Given the description of an element on the screen output the (x, y) to click on. 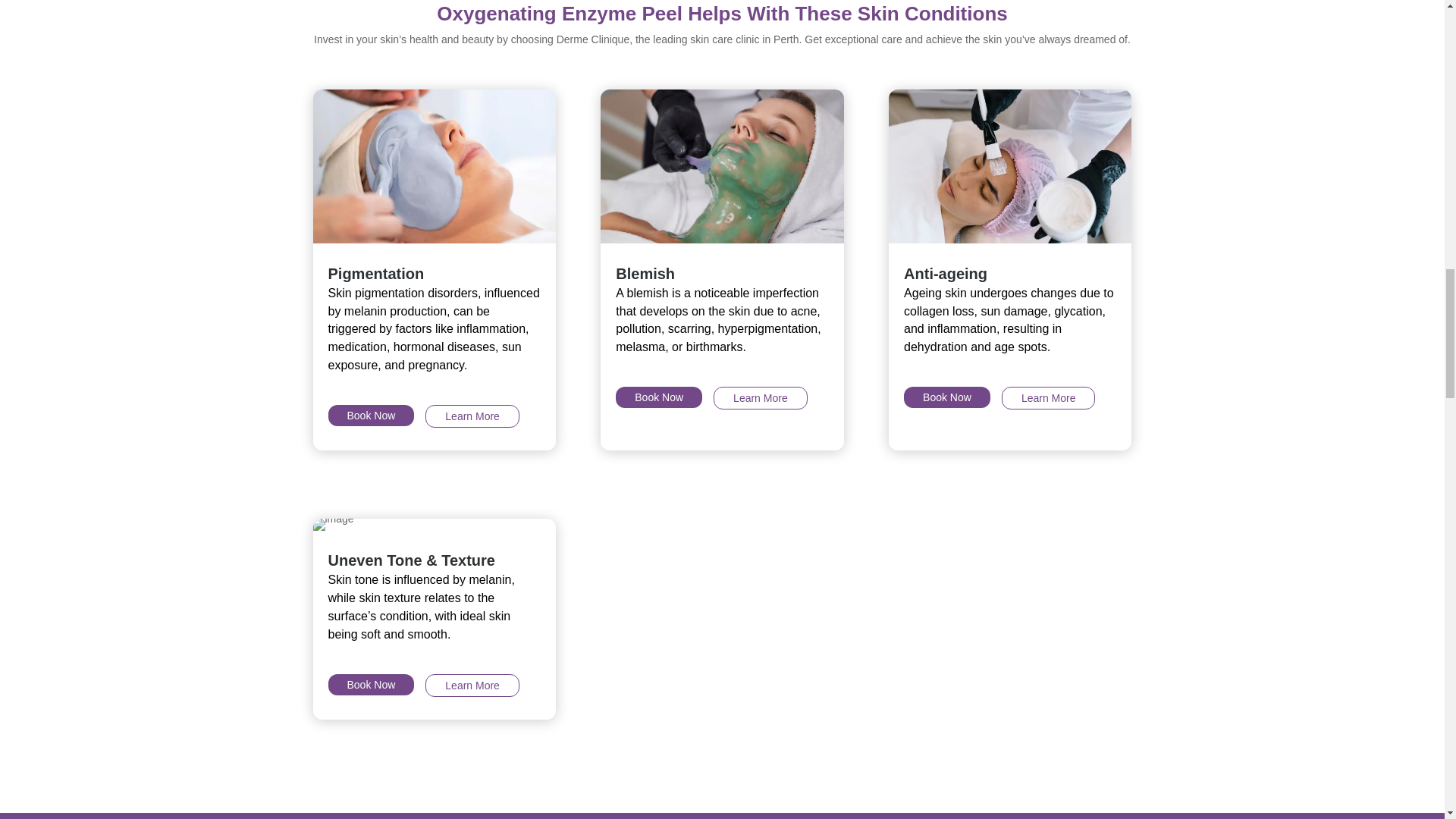
image (333, 524)
image (721, 166)
Mask group - 2024-02-27T100623.716 (1009, 166)
Mask group - 2024-02-27T100506.032 (433, 166)
